Given the description of an element on the screen output the (x, y) to click on. 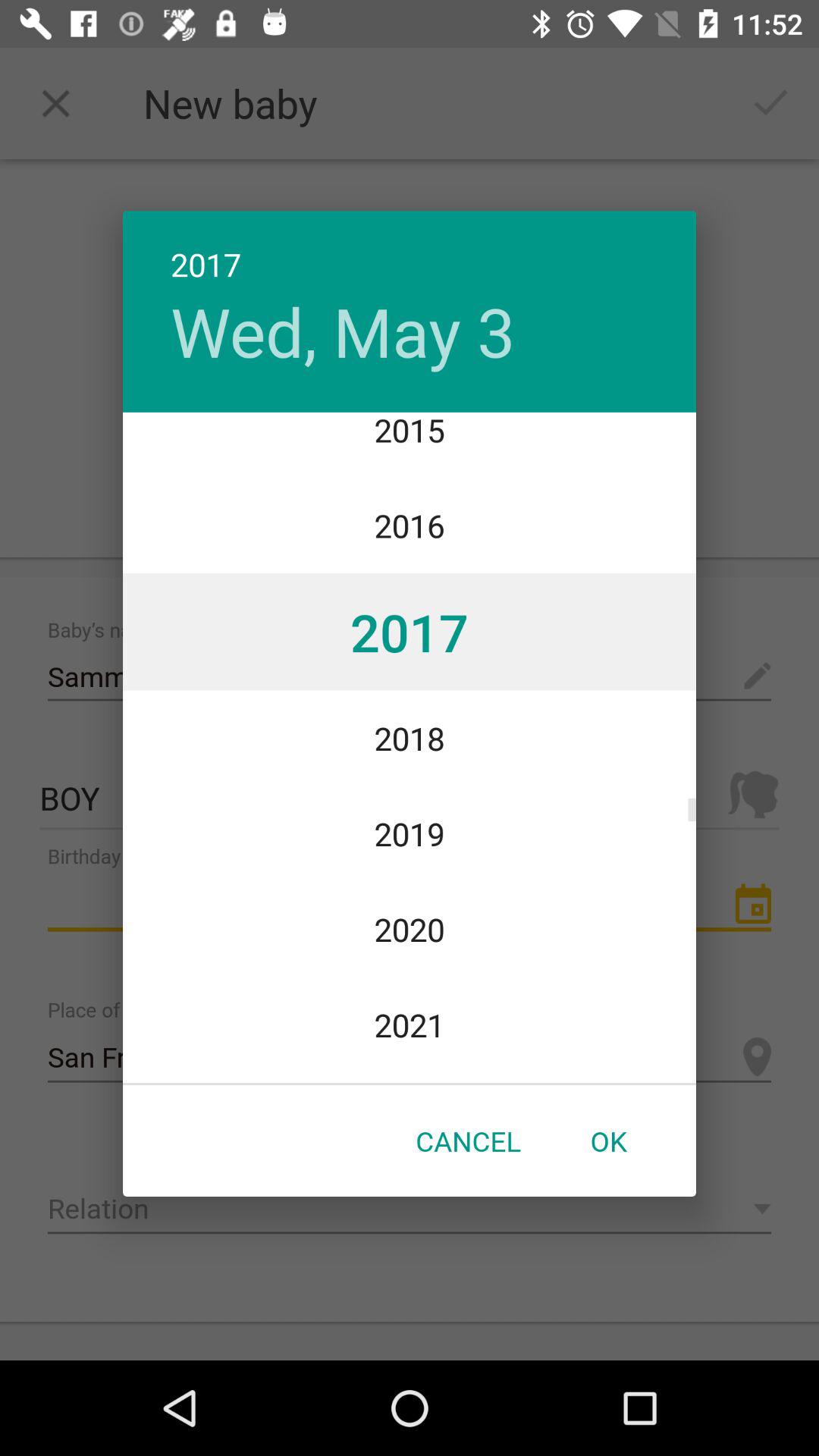
tap the icon to the right of the cancel (608, 1140)
